Given the description of an element on the screen output the (x, y) to click on. 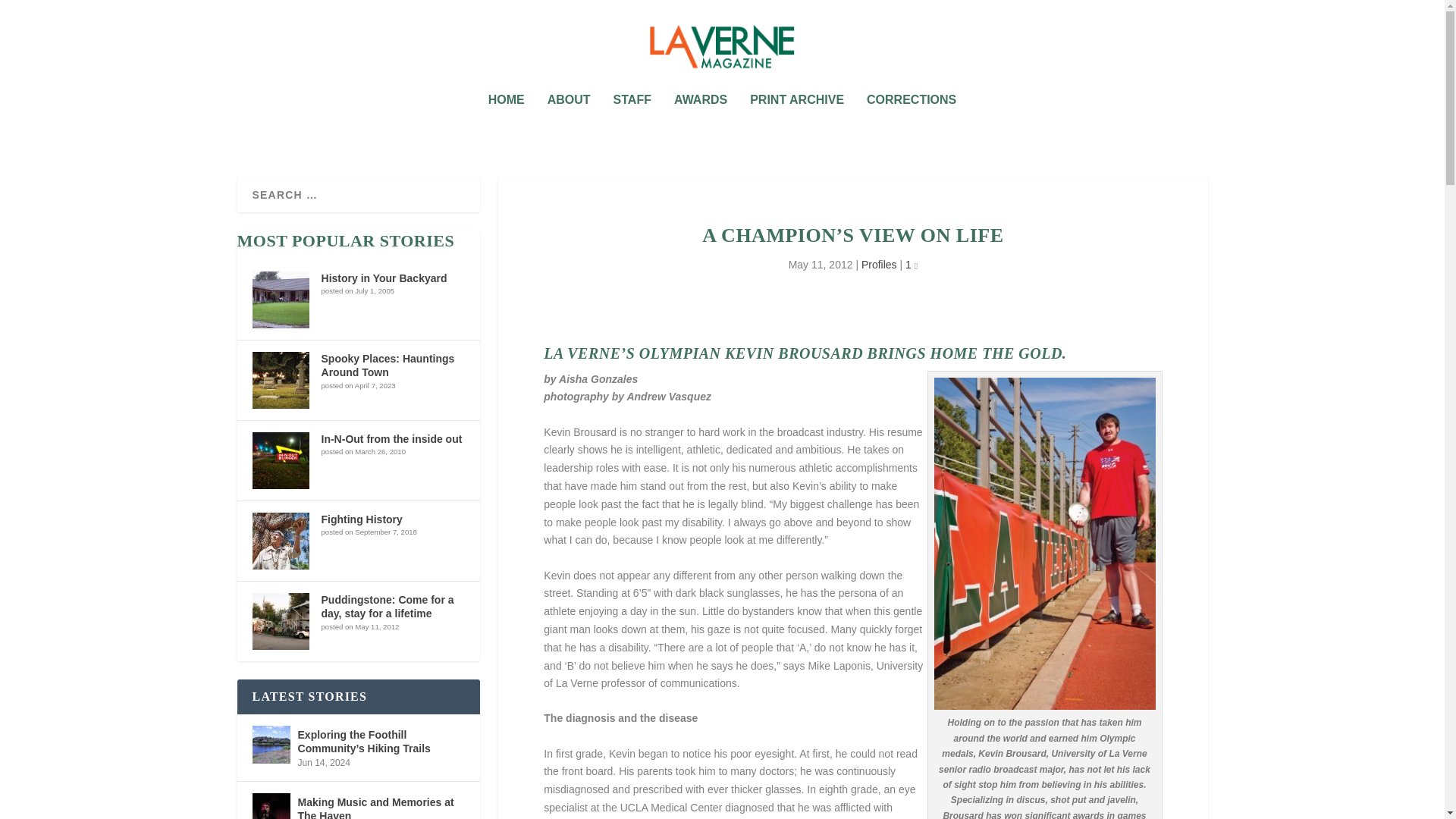
CORRECTIONS (911, 120)
1 (911, 264)
Spooky Places: Hauntings Around Town (387, 365)
Making Music and Memories at The Haven (270, 806)
PRINT ARCHIVE (796, 120)
History in Your Backyard (383, 277)
AWARDS (700, 120)
Search (31, 13)
Profiles (878, 264)
